Given the description of an element on the screen output the (x, y) to click on. 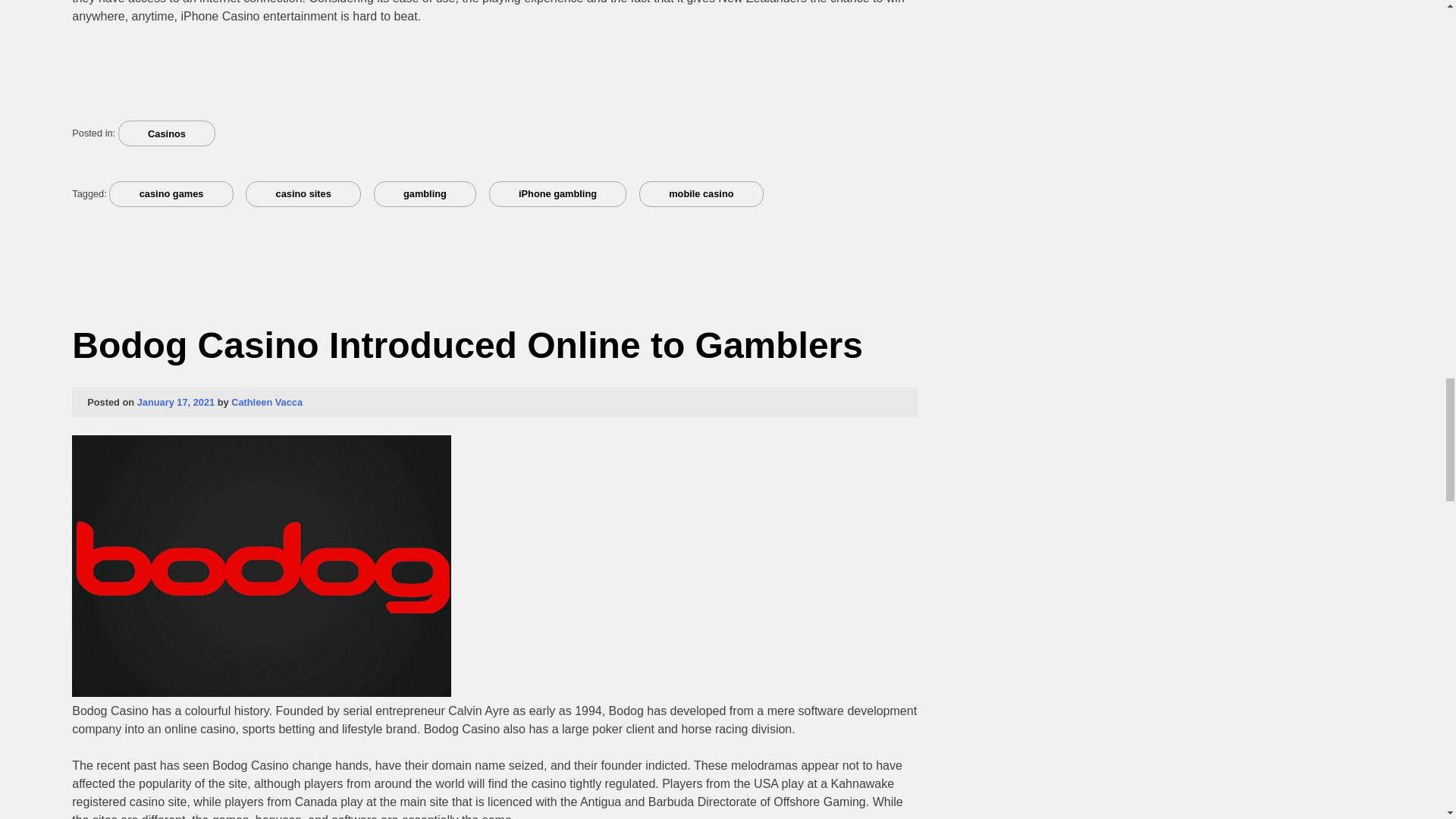
gambling (425, 193)
Bodog Casino Introduced Online to Gamblers (467, 345)
iPhone gambling (558, 193)
casino sites (303, 193)
January 17, 2021 (175, 401)
Cathleen Vacca (266, 401)
casino games (170, 193)
Casinos (166, 133)
mobile casino (700, 193)
